Given the description of an element on the screen output the (x, y) to click on. 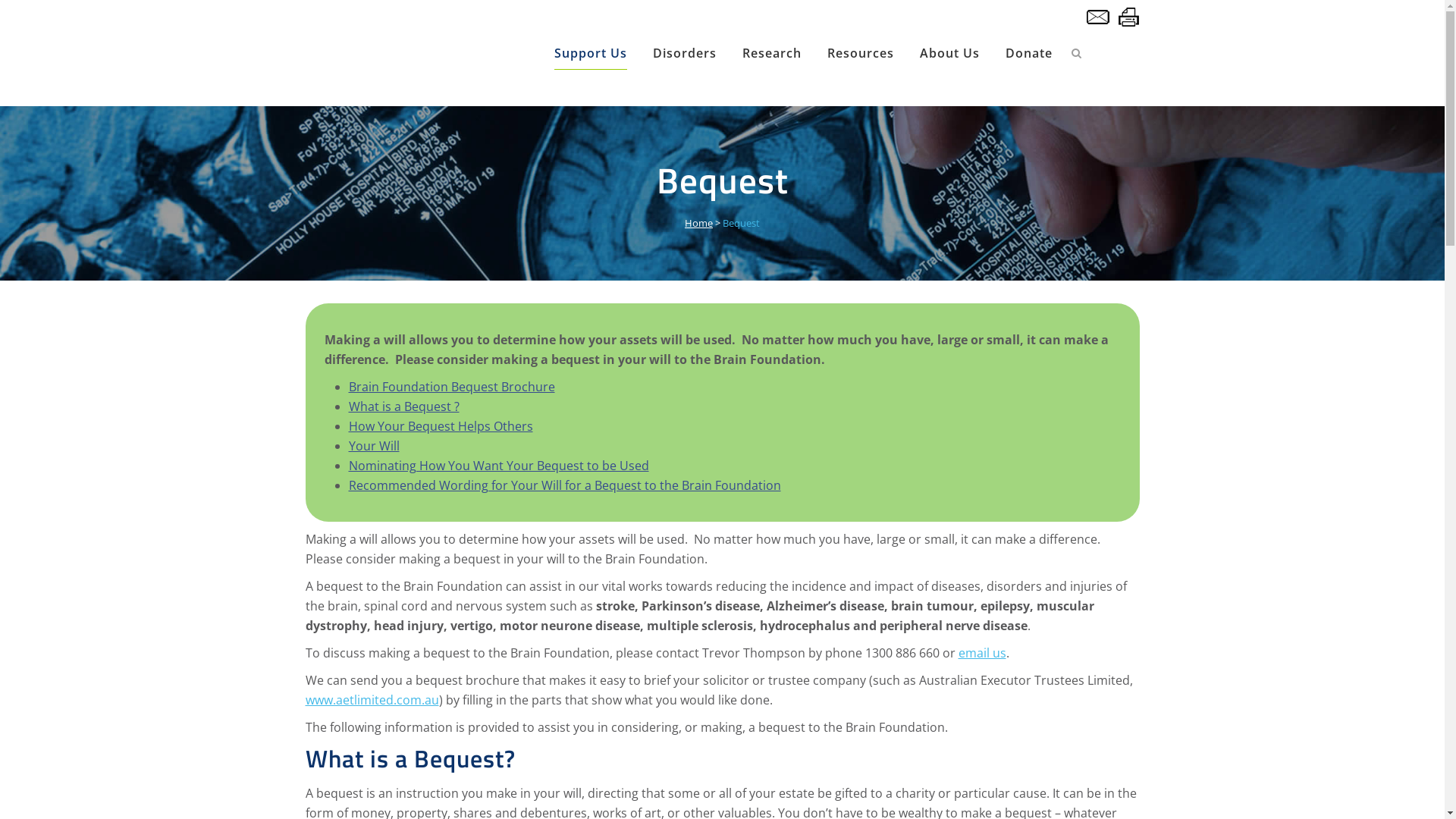
Home Element type: text (698, 222)
Support Us Element type: text (590, 53)
www.aetlimited.com.au Element type: text (371, 699)
Resources Element type: text (860, 53)
How Your Bequest Helps Others Element type: text (440, 425)
About Us Element type: text (949, 53)
Disorders Element type: text (684, 53)
Brain Foundation Bequest Brochure Element type: text (451, 386)
Nominating How You Want Your Bequest to be Used Element type: text (498, 465)
email us Element type: text (982, 652)
Donate Element type: text (1027, 53)
What is a Bequest ? Element type: text (403, 406)
Your Will Element type: text (373, 445)
Research Element type: text (771, 53)
